Given the description of an element on the screen output the (x, y) to click on. 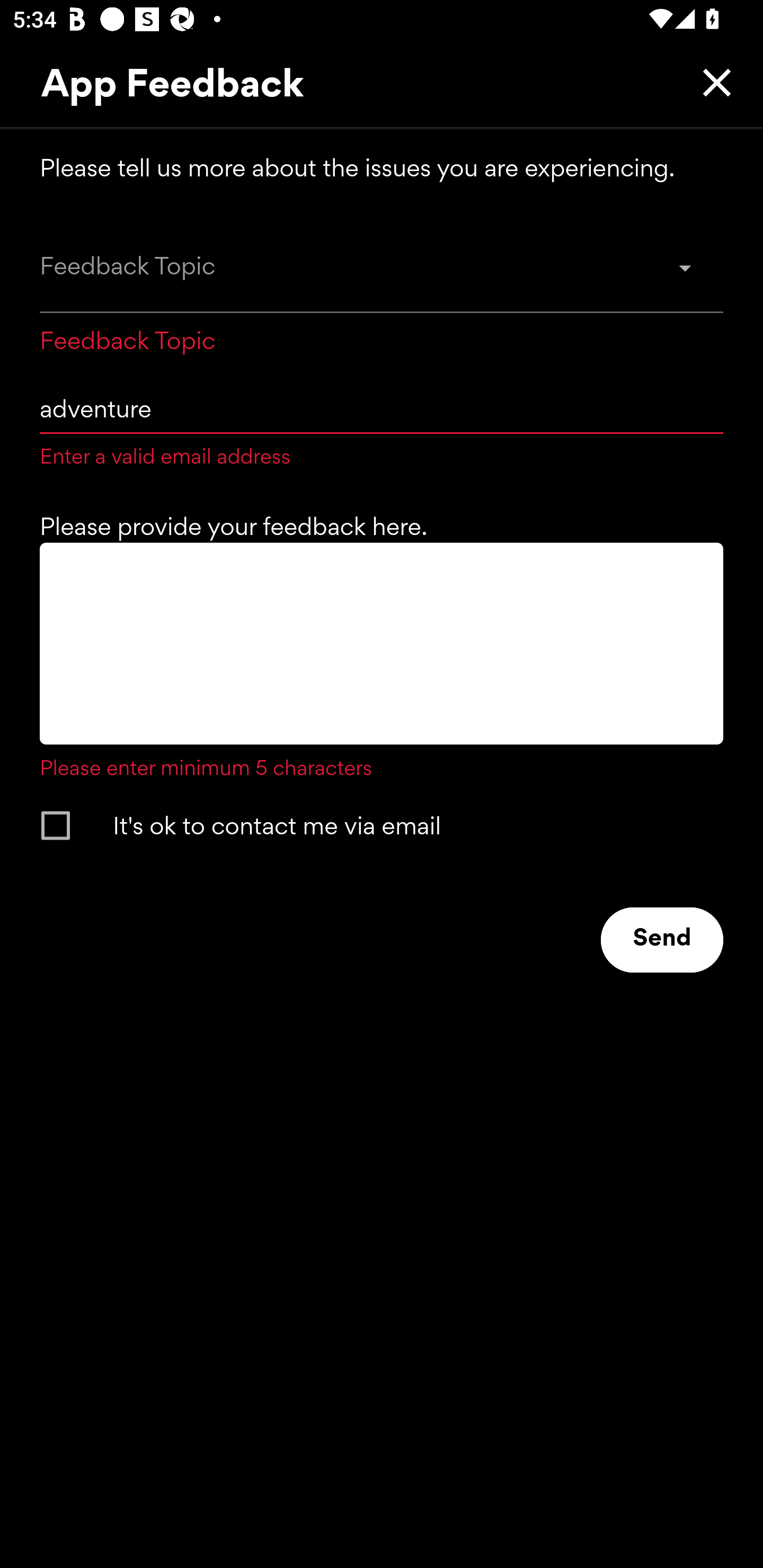
Close (712, 82)
adventure Enter a valid email address (381, 421)
Please enter minimum 5 characters (381, 661)
It's ok to contact me via email (365, 825)
Send (662, 939)
